Given the description of an element on the screen output the (x, y) to click on. 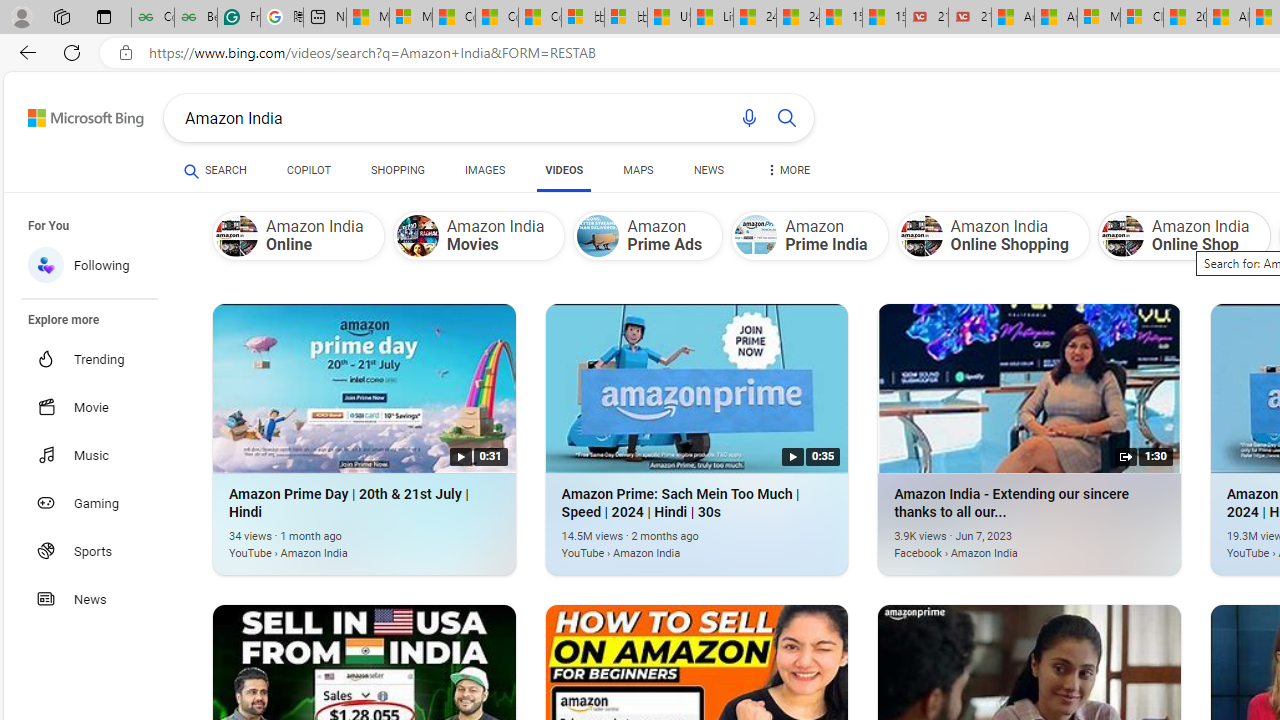
SHOPPING (397, 173)
Trending (99, 359)
Search button (786, 117)
20 Ways to Boost Your Protein Intake at Every Meal (1184, 17)
COPILOT (308, 173)
Amazon India Online (298, 235)
COPILOT (308, 170)
Cloud Computing Services | Microsoft Azure (1142, 17)
SEARCH (215, 170)
Amazon Prime India (810, 235)
